Given the description of an element on the screen output the (x, y) to click on. 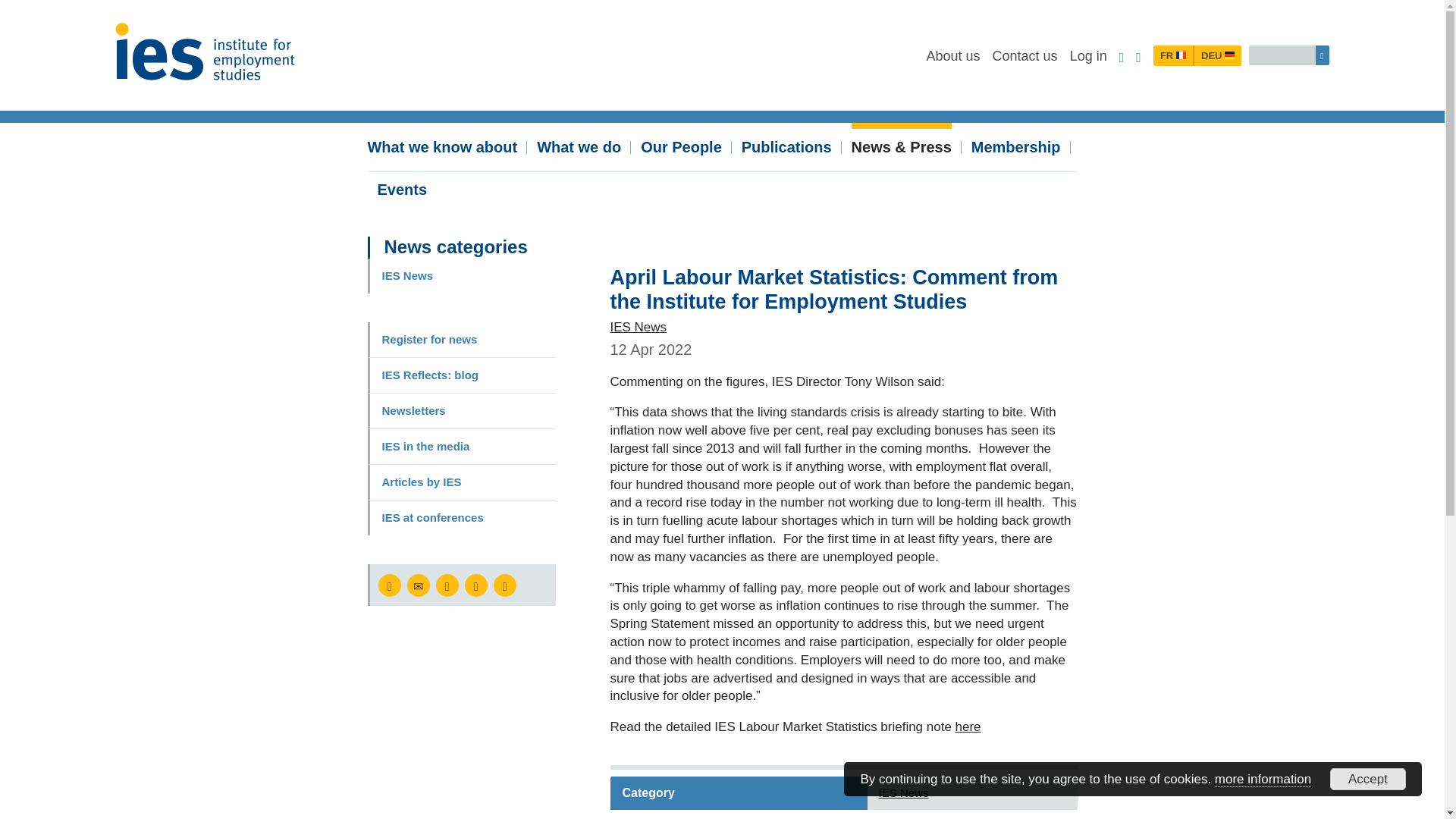
Publications (786, 143)
FR (1173, 55)
IES News (460, 275)
Events (402, 186)
DEU (1217, 55)
What we do (579, 143)
Contact us (1025, 55)
here (968, 726)
Register for news (460, 339)
Newsletters (460, 411)
